Given the description of an element on the screen output the (x, y) to click on. 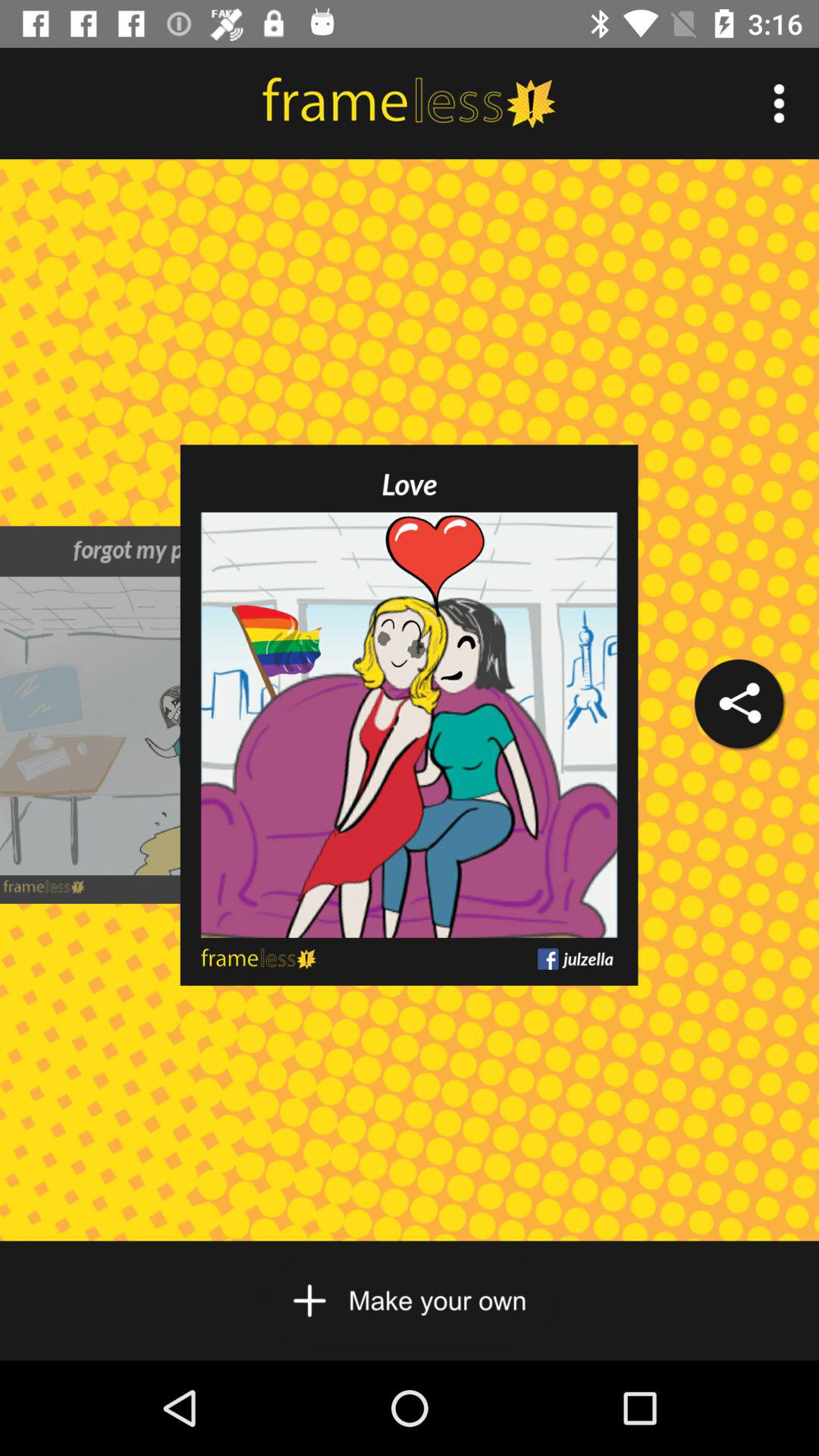
scroll (409, 1300)
